Given the description of an element on the screen output the (x, y) to click on. 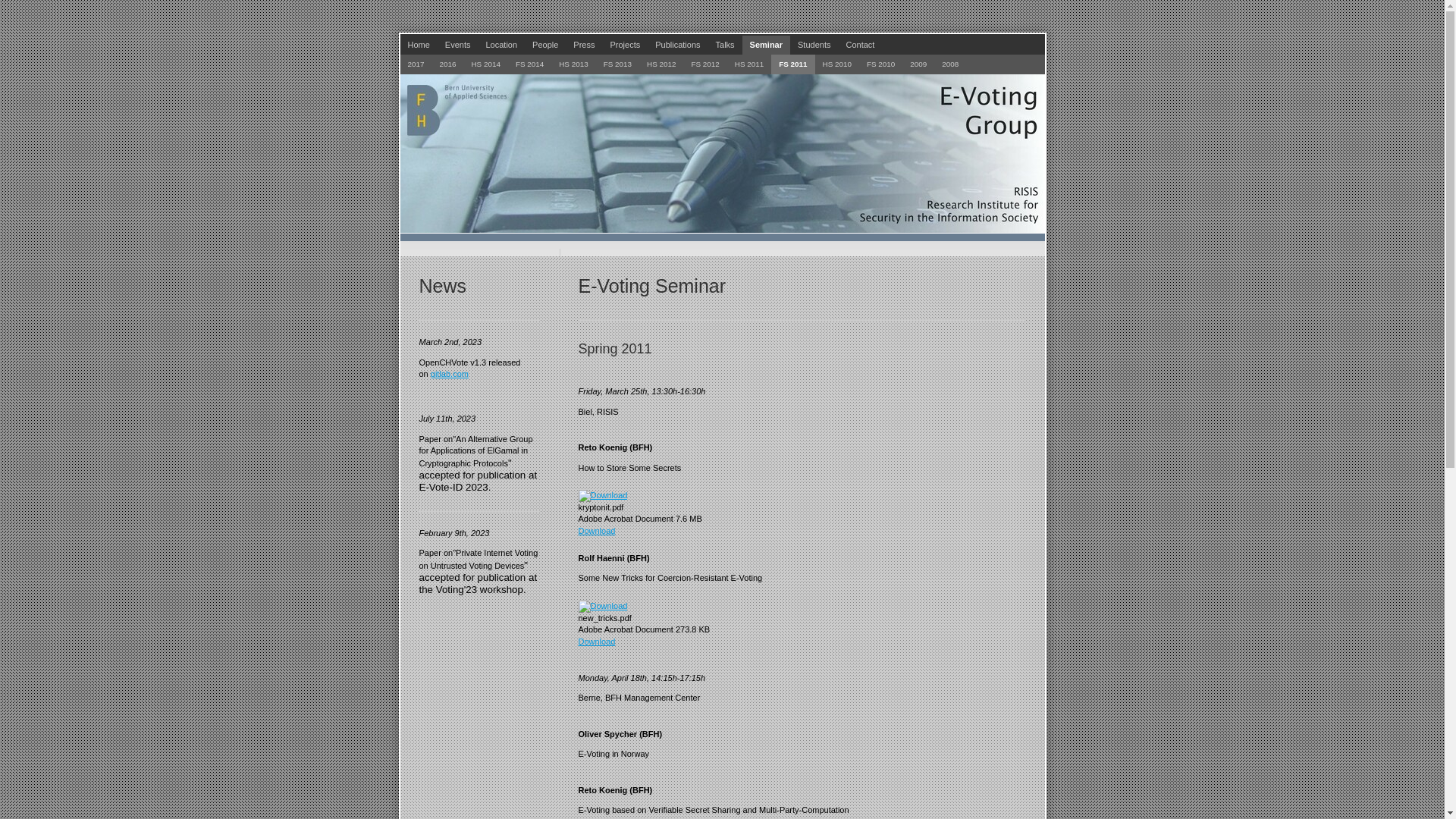
Contact Element type: text (859, 44)
People Element type: text (544, 44)
HS 2011 Element type: text (749, 63)
2009 Element type: text (918, 63)
2017 Element type: text (416, 63)
HS 2010 Element type: text (837, 63)
Location Element type: text (500, 44)
2008 Element type: text (950, 63)
FS 2013 Element type: text (617, 63)
Publications Element type: text (677, 44)
Download Element type: text (596, 530)
FS 2011 Element type: text (792, 63)
FS 2012 Element type: text (704, 63)
Events Element type: text (457, 44)
2016 Element type: text (447, 63)
Press Element type: text (583, 44)
FS 2010 Element type: text (880, 63)
Download Element type: text (596, 641)
Seminar Element type: text (766, 44)
Students Element type: text (813, 44)
gitlab.com Element type: text (449, 373)
HS 2013 Element type: text (573, 63)
HS 2014 Element type: text (485, 63)
Talks Element type: text (725, 44)
Home Element type: text (418, 44)
HS 2012 Element type: text (661, 63)
FS 2014 Element type: text (529, 63)
Projects Element type: text (624, 44)
